Given the description of an element on the screen output the (x, y) to click on. 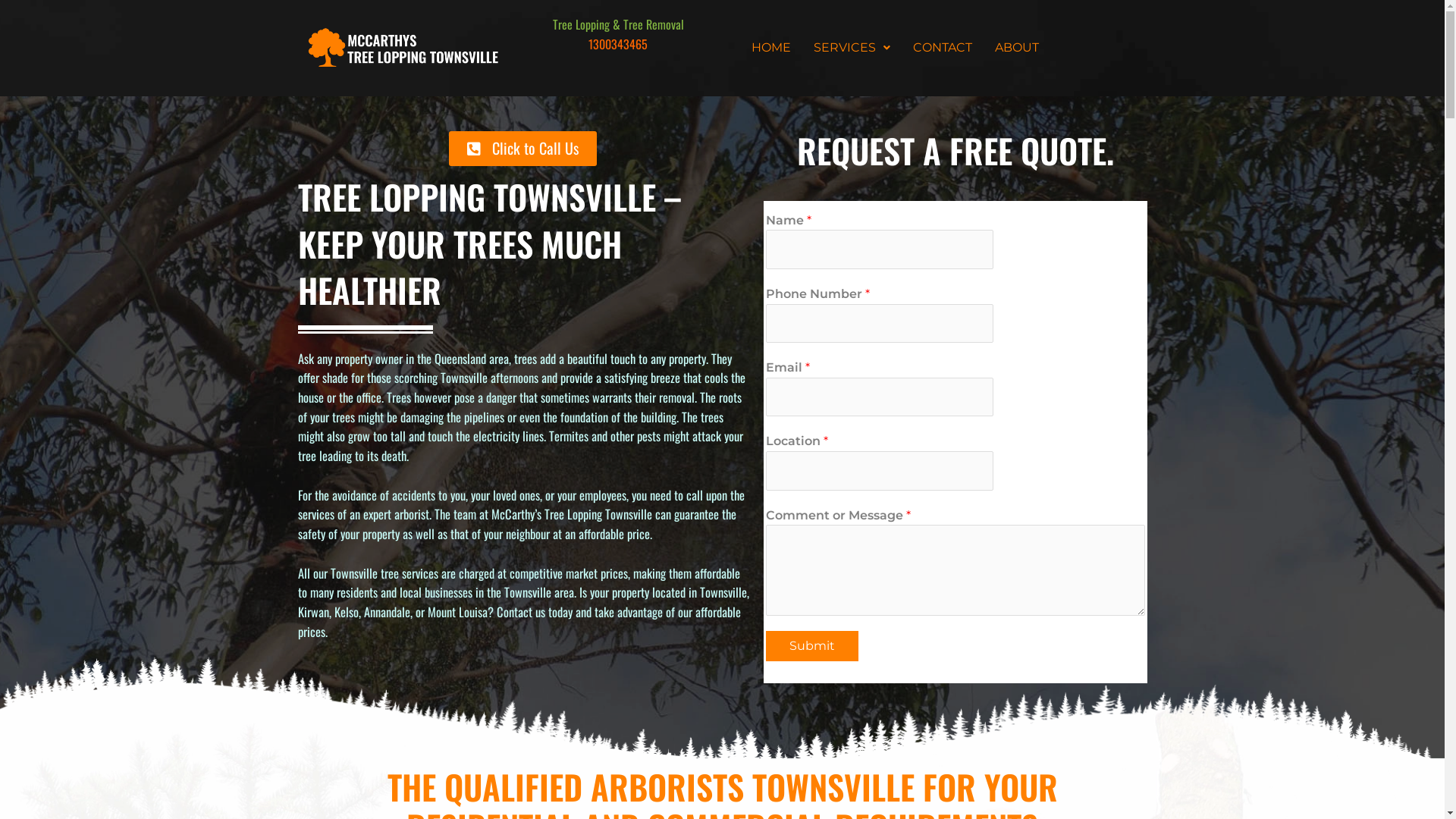
ABOUT Element type: text (1016, 47)
Submit Element type: text (811, 645)
SERVICES Element type: text (851, 47)
Click to Call Us Element type: text (522, 148)
HOME Element type: text (771, 47)
1300343465 Element type: text (617, 43)
CONTACT Element type: text (942, 47)
